Given the description of an element on the screen output the (x, y) to click on. 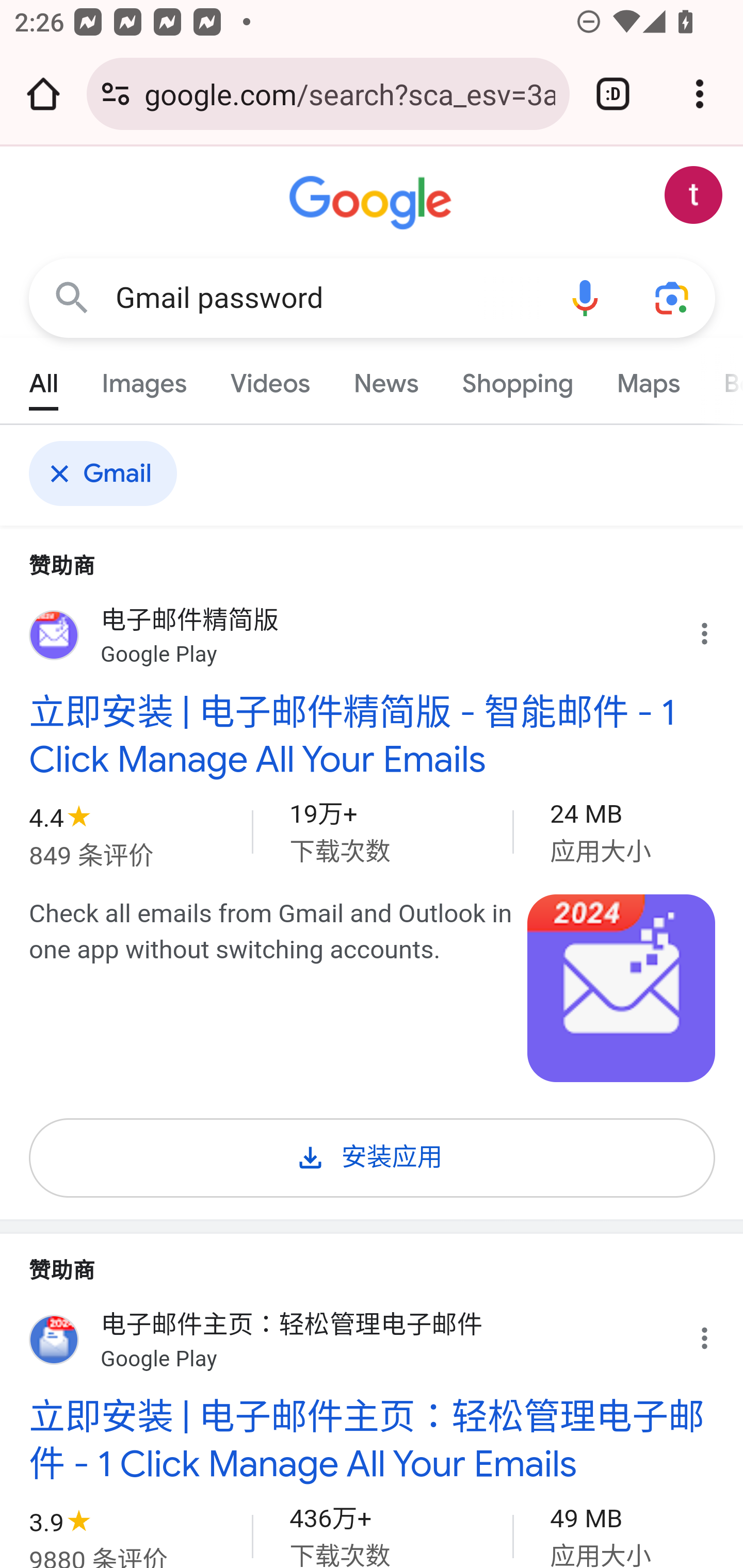
Open the home page (43, 93)
Connection is secure (115, 93)
Switch or close tabs (612, 93)
Customize and control Google Chrome (699, 93)
Google (372, 203)
Google Search (71, 296)
Search using your camera or photos (672, 296)
Gmail password (328, 297)
Images (144, 378)
Videos (270, 378)
News (385, 378)
Shopping (516, 378)
Maps (647, 378)
移除“Gmail” Gmail (108, 473)
为什么会显示该广告？ (714, 628)
图片来自 google.com (621, 988)
安装应用 (372, 1153)
为什么会显示该广告？ (714, 1332)
